Given the description of an element on the screen output the (x, y) to click on. 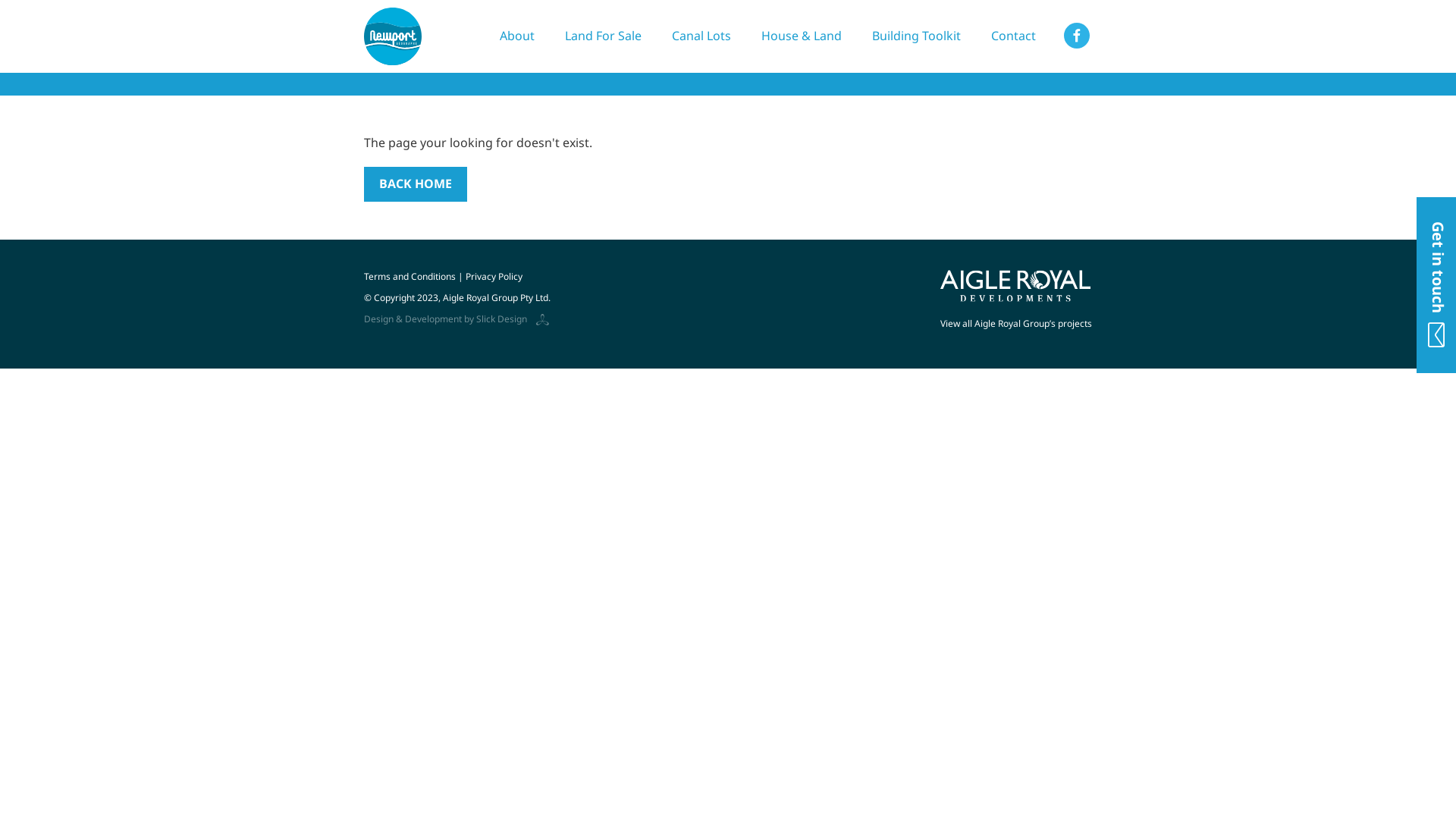
Privacy Policy Element type: text (493, 275)
Land For Sale Element type: text (602, 35)
About Element type: text (516, 35)
House & Land Element type: text (801, 35)
Design & Development by Slick Design Element type: text (456, 318)
Canal Lots Element type: text (701, 35)
BACK HOME Element type: text (415, 183)
Contact Element type: text (1013, 35)
Terms and Conditions Element type: text (409, 275)
Building Toolkit Element type: text (915, 35)
